Given the description of an element on the screen output the (x, y) to click on. 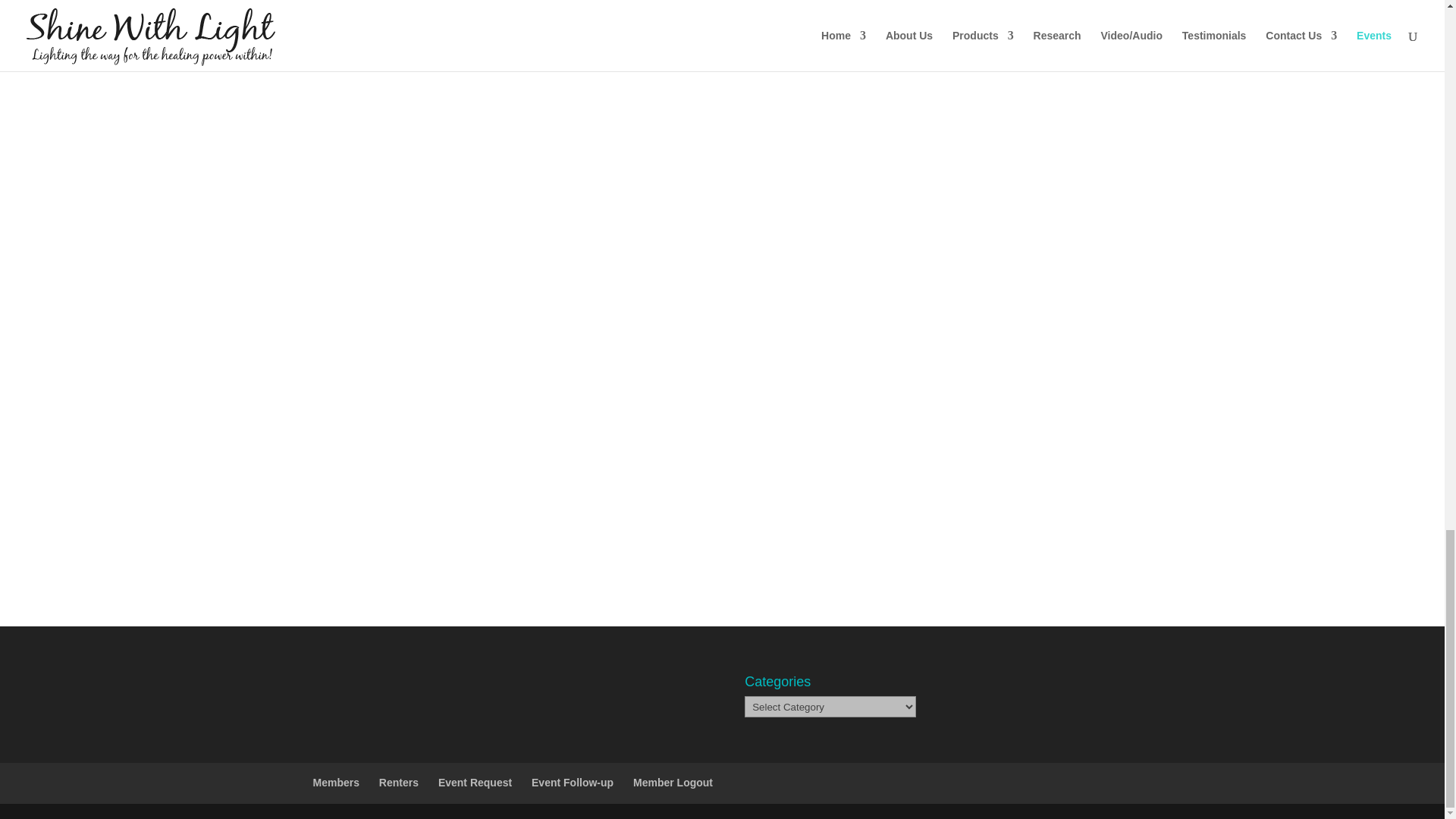
Event Follow-up (571, 782)
Event Request (475, 782)
Members (335, 782)
Renters (398, 782)
Member Logout (673, 782)
